Given the description of an element on the screen output the (x, y) to click on. 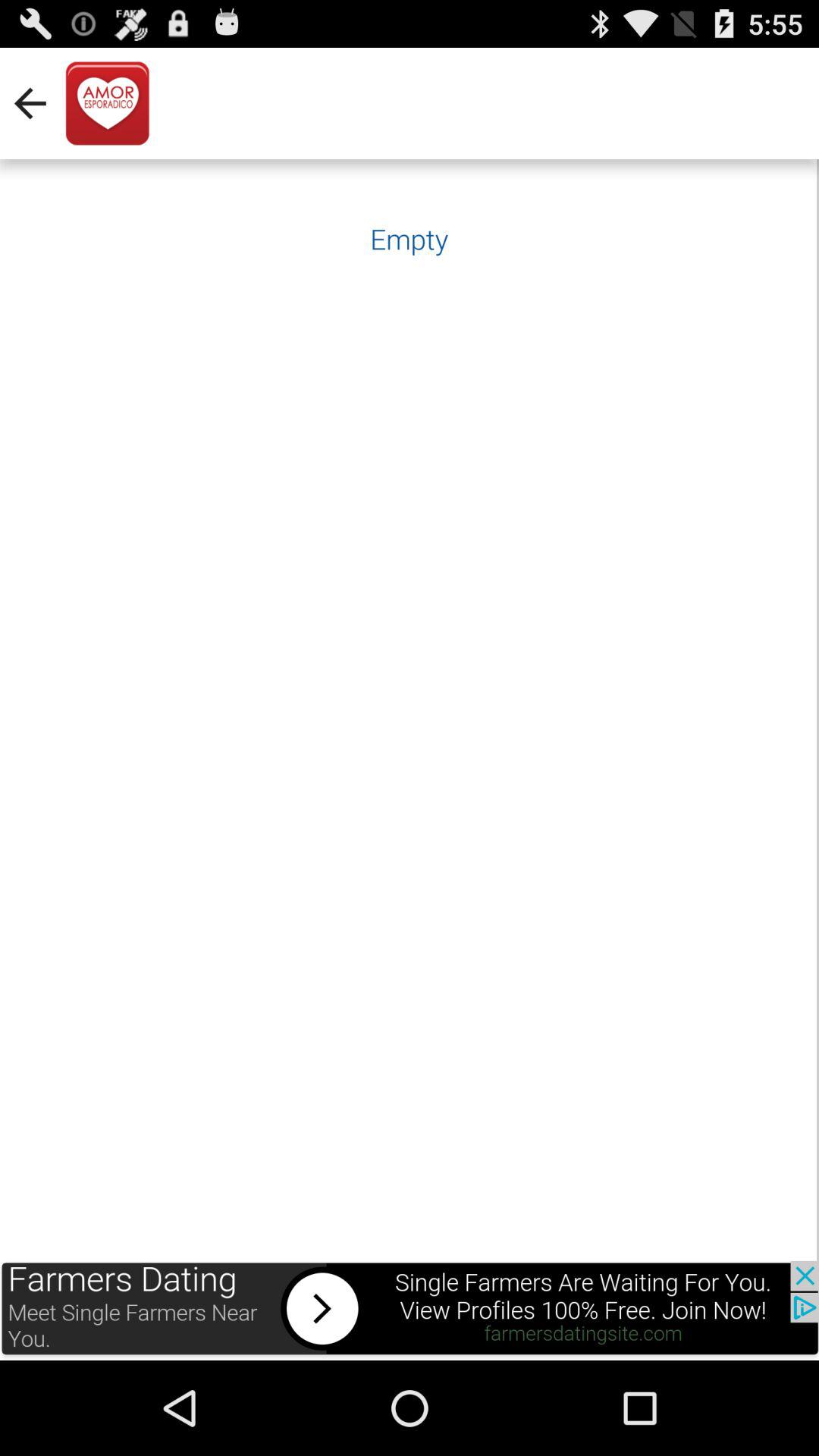
go to next (409, 1310)
